Given the description of an element on the screen output the (x, y) to click on. 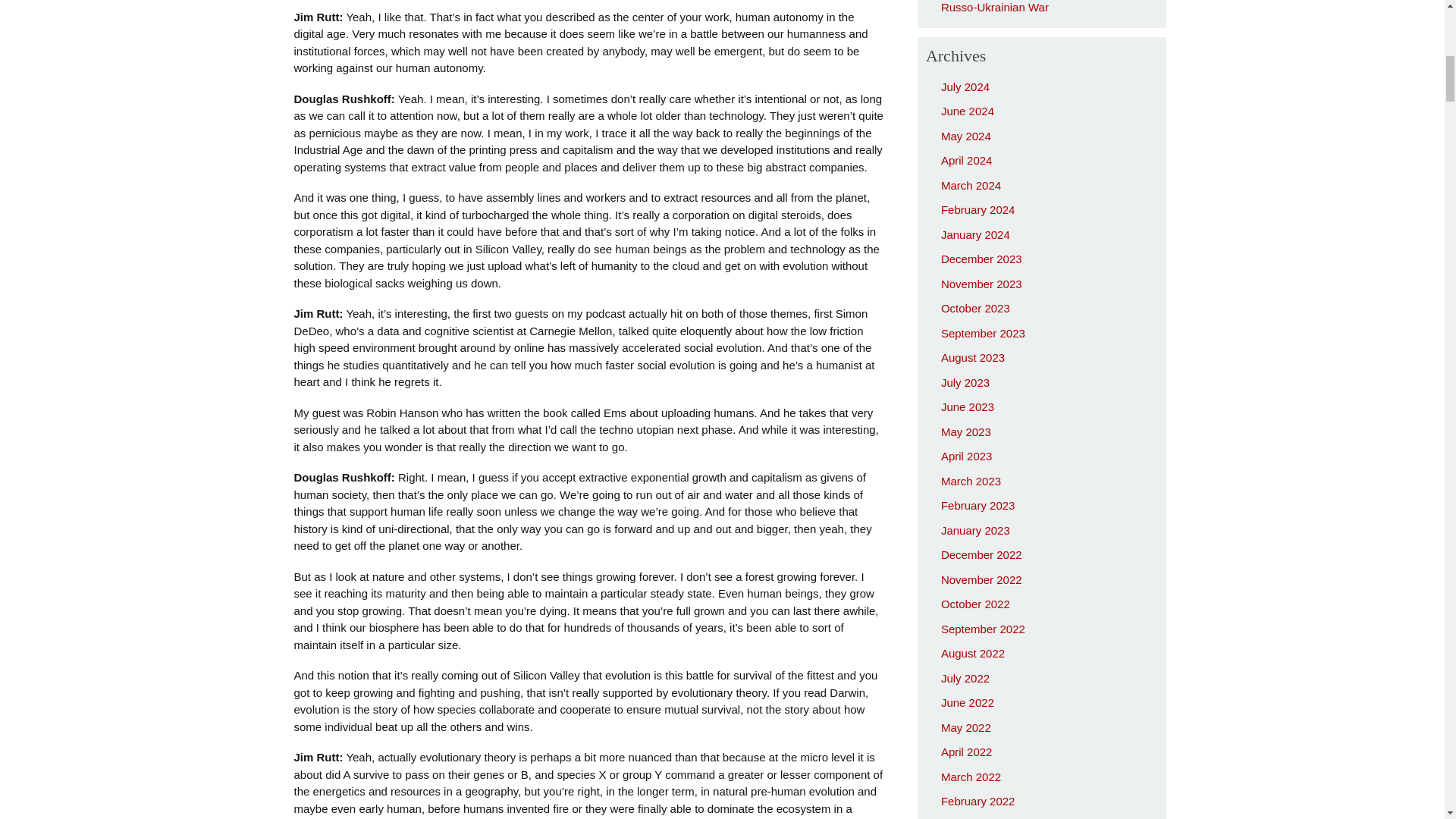
August 2023 (972, 357)
April 2024 (966, 160)
December 2023 (981, 258)
January 2024 (975, 234)
May 2023 (965, 431)
July 2024 (965, 86)
October 2023 (975, 308)
June 2024 (967, 110)
November 2022 (981, 579)
November 2023 (981, 283)
April 2023 (966, 455)
EP 244 Samo Burja on Lessons from the Russo-Ukrainian War (1043, 6)
March 2024 (970, 185)
September 2023 (982, 332)
December 2022 (981, 554)
